Given the description of an element on the screen output the (x, y) to click on. 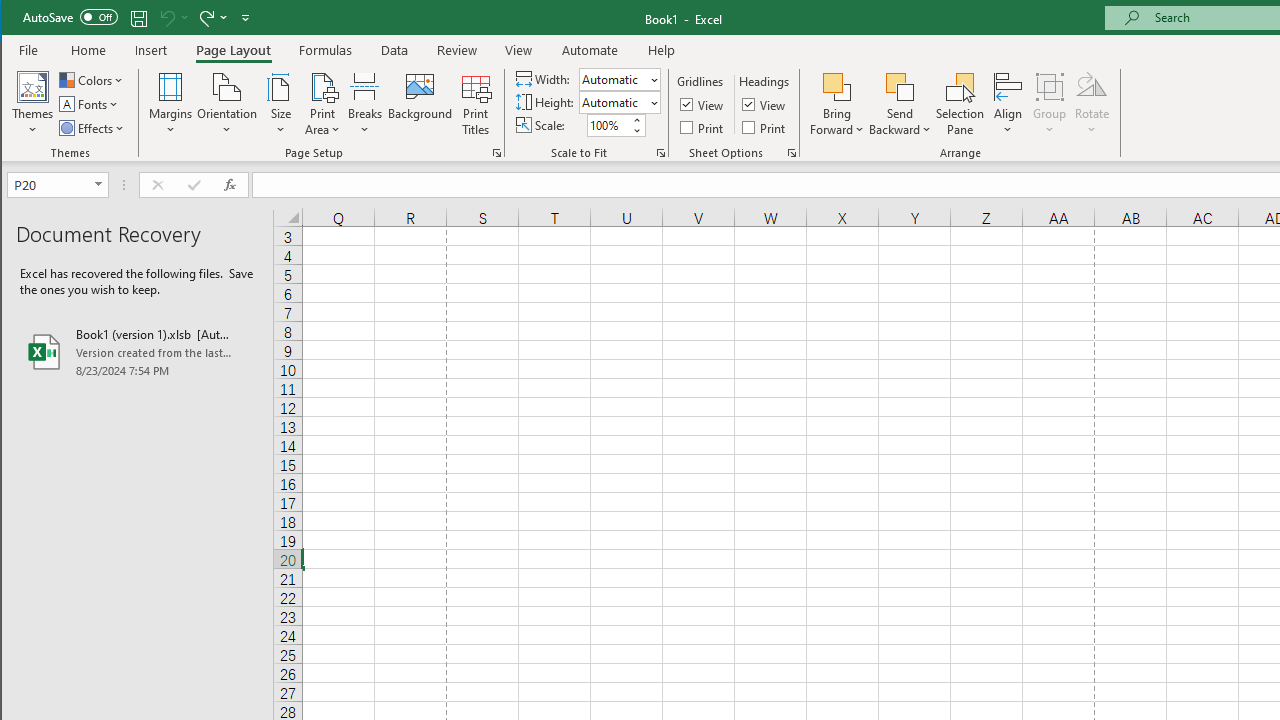
Size (280, 104)
More (636, 120)
Scale (607, 125)
Themes (33, 104)
AutoSave (70, 16)
Selection Pane... (960, 104)
Align (1007, 104)
Breaks (365, 104)
Effects (93, 127)
